Given the description of an element on the screen output the (x, y) to click on. 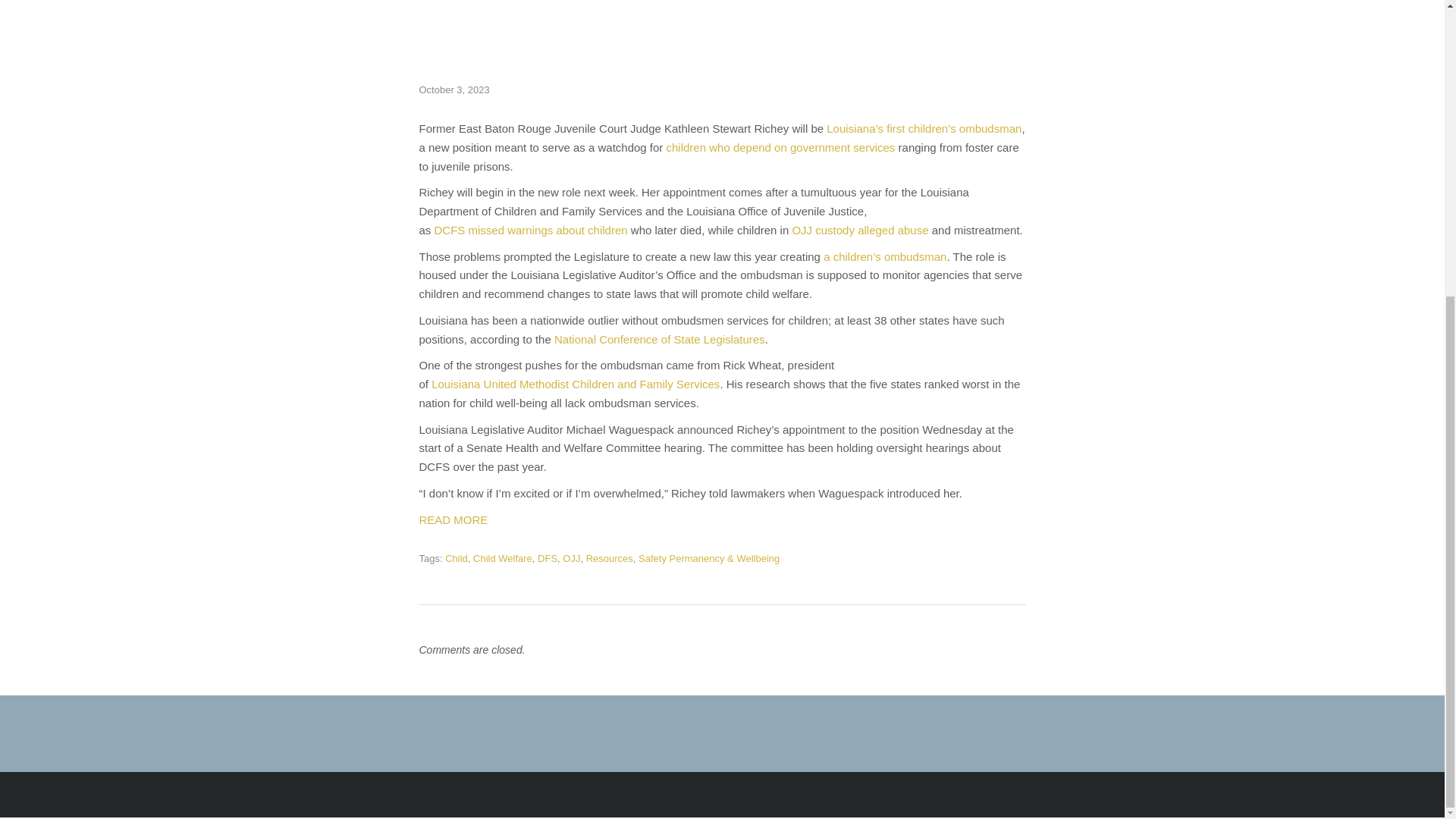
OJJ custody alleged abuse (860, 229)
Resources (609, 558)
OJJ (570, 558)
Louisiana United Methodist Children and Family Services (574, 383)
Child (456, 558)
DCFS missed warnings about children (530, 229)
children who depend on government services (780, 146)
National Conference of State Legislatures (659, 338)
Child Welfare (502, 558)
READ MORE (453, 519)
